Given the description of an element on the screen output the (x, y) to click on. 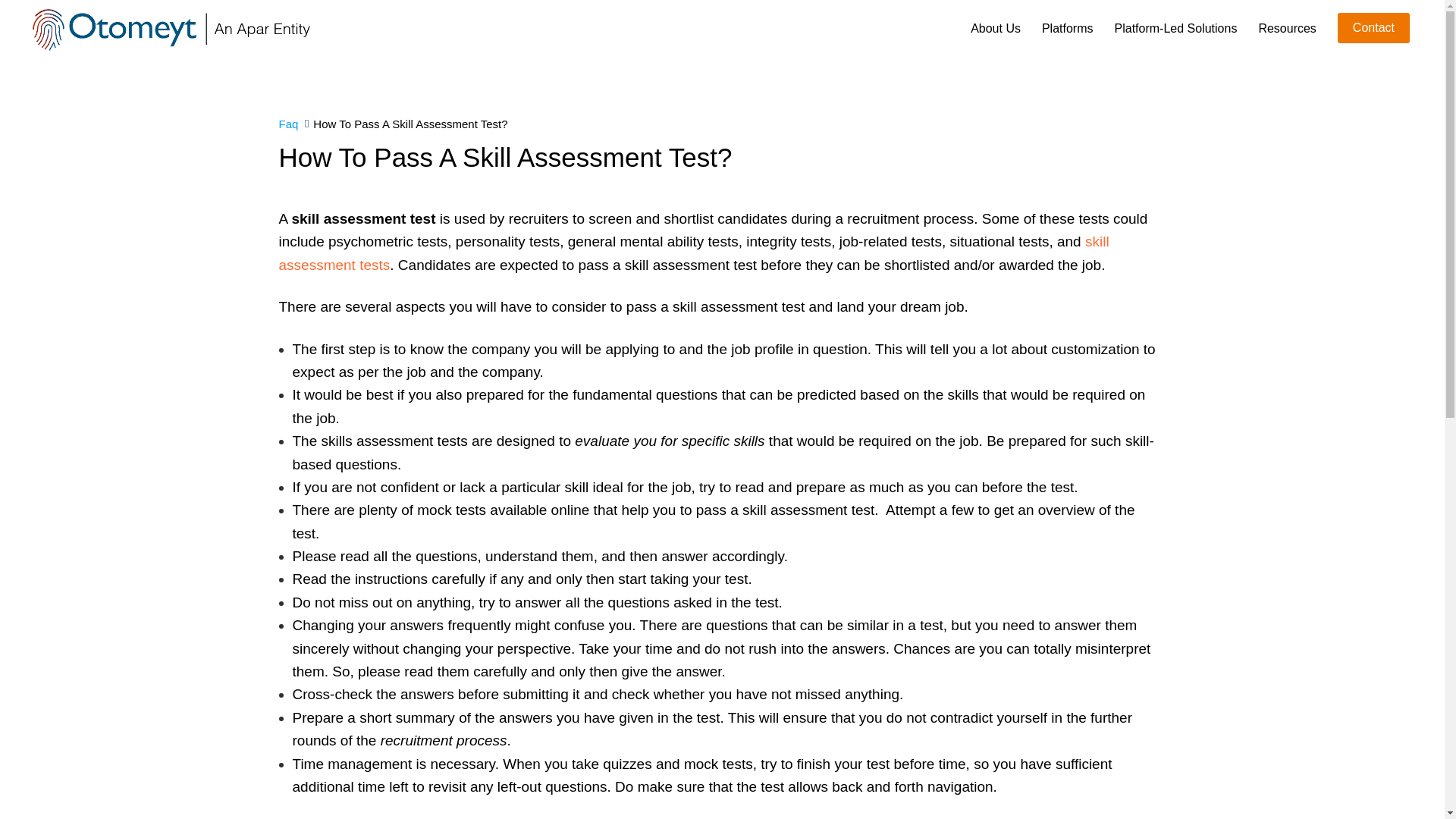
About Us (995, 28)
Contact (1373, 28)
Platform-led Solutions (1176, 28)
Resources (1286, 28)
Platforms (1067, 28)
Otomeyt (172, 29)
About Us (995, 28)
Resources (1286, 28)
Platform-Led Solutions (1176, 28)
Platforms (1067, 28)
